Given the description of an element on the screen output the (x, y) to click on. 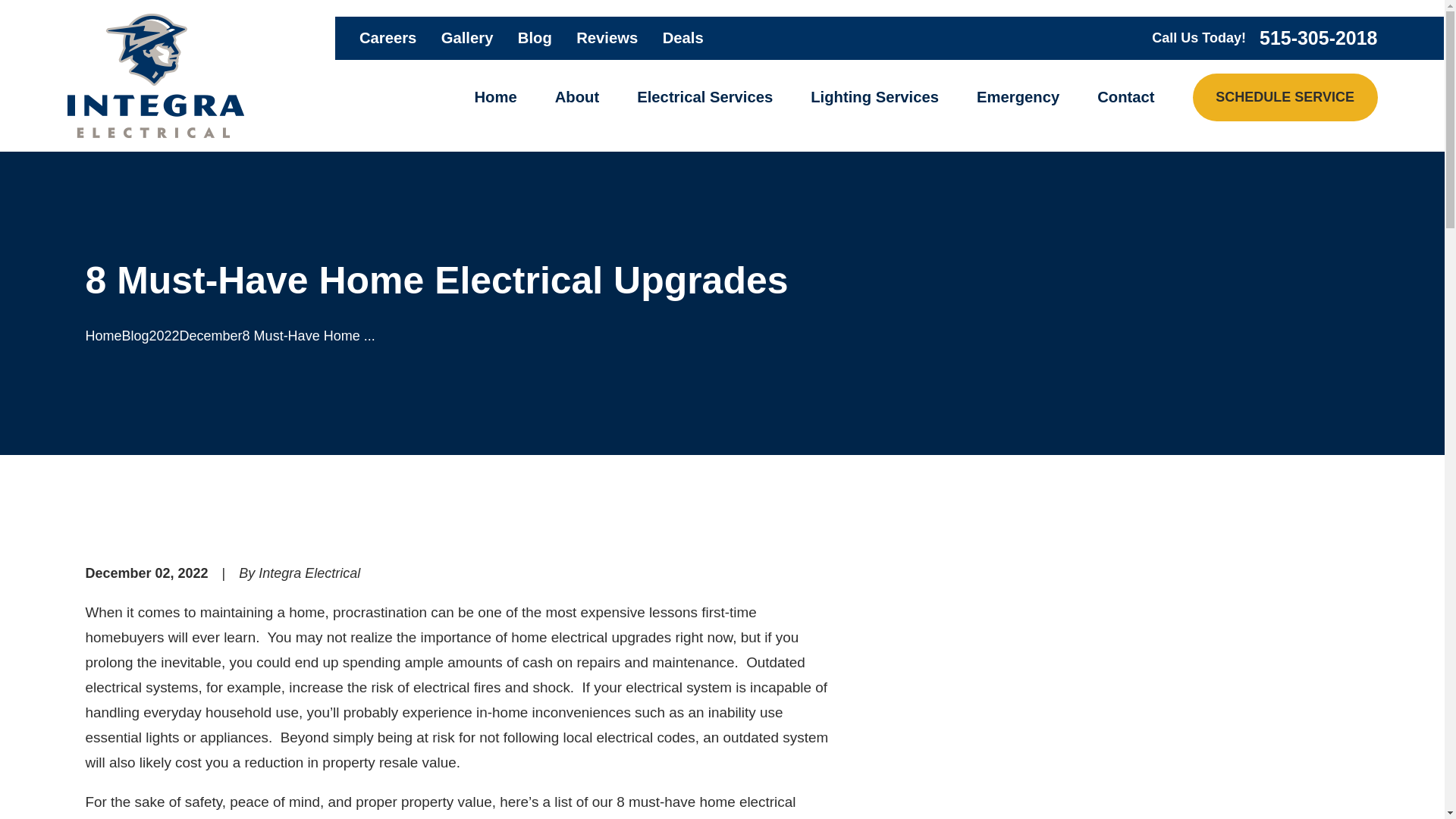
Home (495, 97)
About (576, 97)
Reviews (606, 37)
Gallery (467, 37)
Careers (387, 37)
Contact (1125, 97)
Home (154, 75)
Deals (682, 37)
Electrical Services (705, 97)
Lighting Services (874, 97)
Go Home (102, 335)
Blog (534, 37)
Emergency (1017, 97)
515-305-2018 (1318, 37)
